Given the description of an element on the screen output the (x, y) to click on. 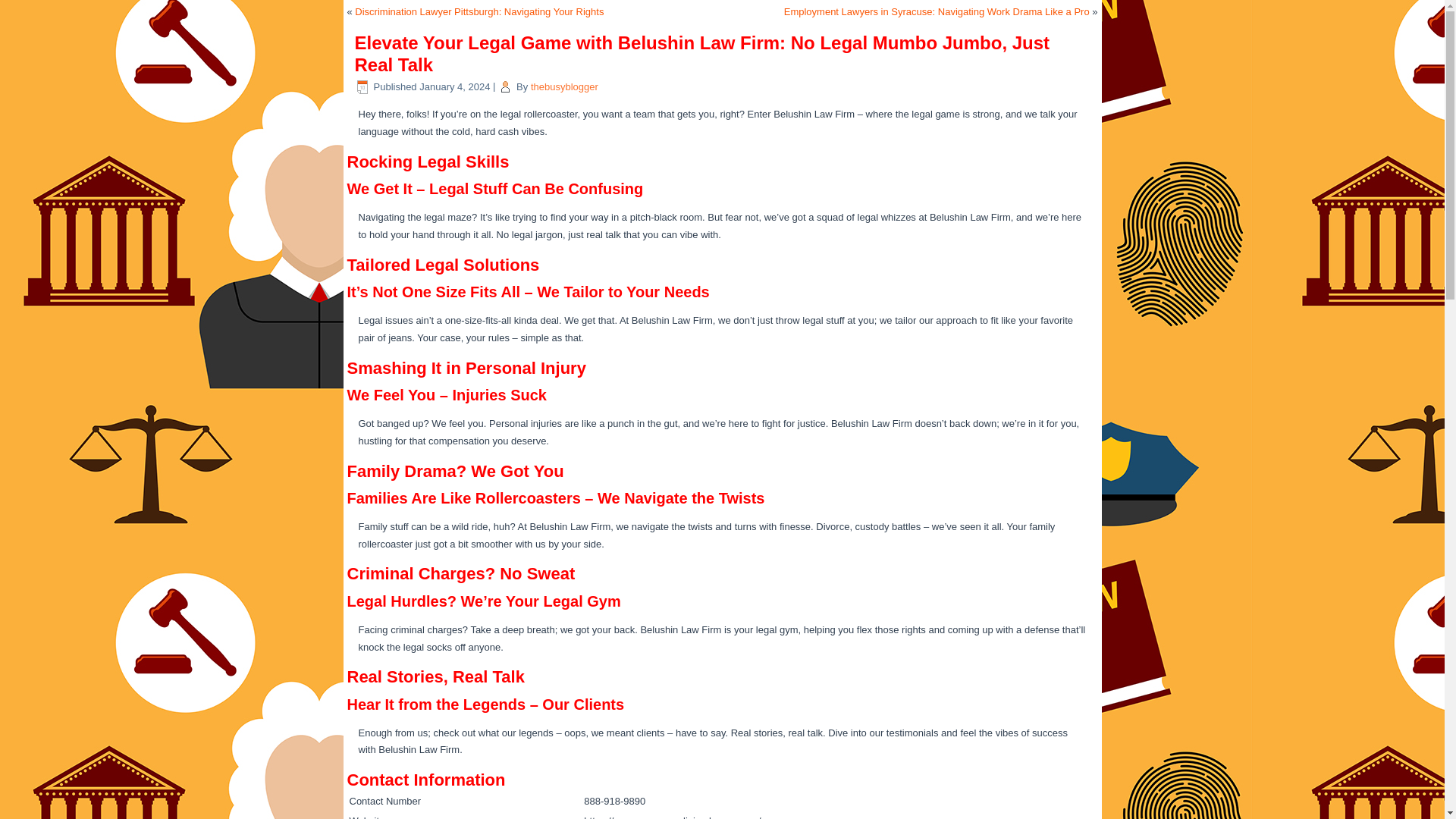
Discrimination Lawyer Pittsburgh: Navigating Your Rights (479, 11)
Discrimination Lawyer Pittsburgh: Navigating Your Rights (479, 11)
thebusyblogger (564, 86)
6:43 pm (454, 86)
View all posts by thebusyblogger (564, 86)
